Given the description of an element on the screen output the (x, y) to click on. 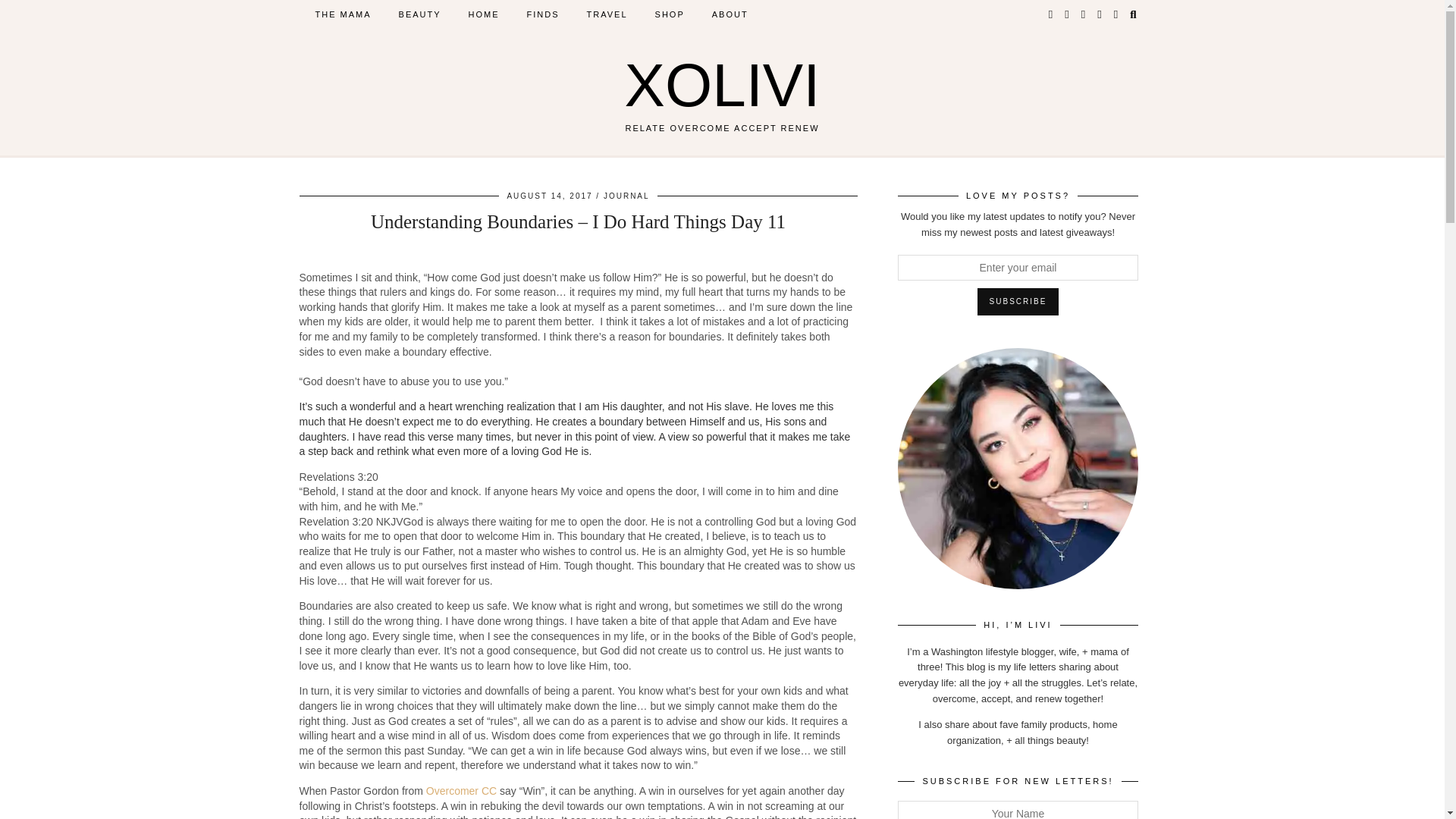
XOLIVI (722, 84)
Subscribe (1017, 301)
